Given the description of an element on the screen output the (x, y) to click on. 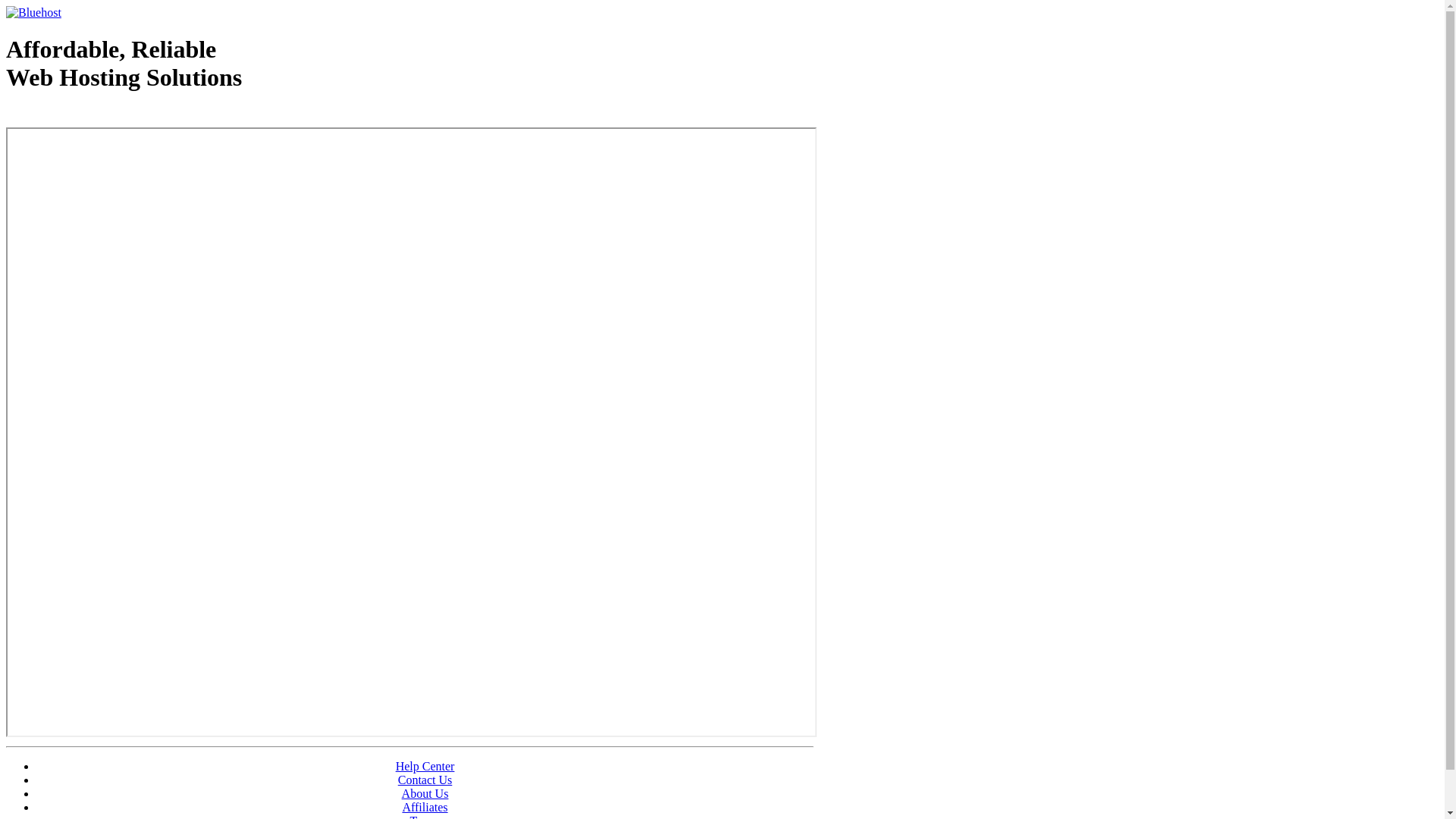
Help Center Element type: text (425, 765)
Web Hosting - courtesy of www.bluehost.com Element type: text (94, 115)
Affiliates Element type: text (424, 806)
Contact Us Element type: text (425, 779)
About Us Element type: text (424, 793)
